Given the description of an element on the screen output the (x, y) to click on. 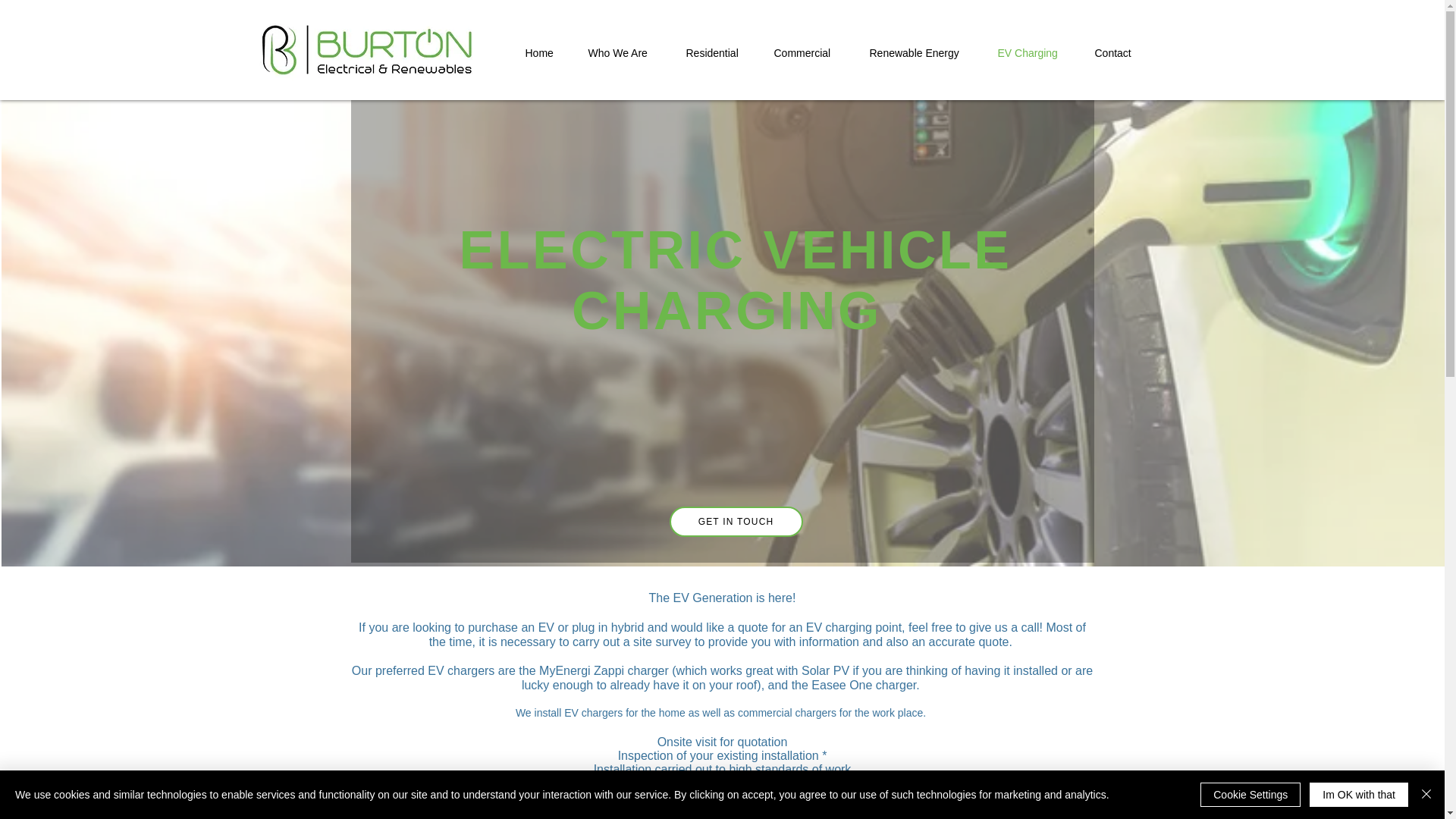
Home (547, 53)
Commercial (813, 53)
EV Charging (1038, 53)
Renewable Energy (925, 53)
Residential (721, 53)
Im OK with that (1357, 794)
Who We Are (629, 53)
GET IN TOUCH (735, 521)
Contact (1122, 53)
Cookie Settings (1249, 794)
